Given the description of an element on the screen output the (x, y) to click on. 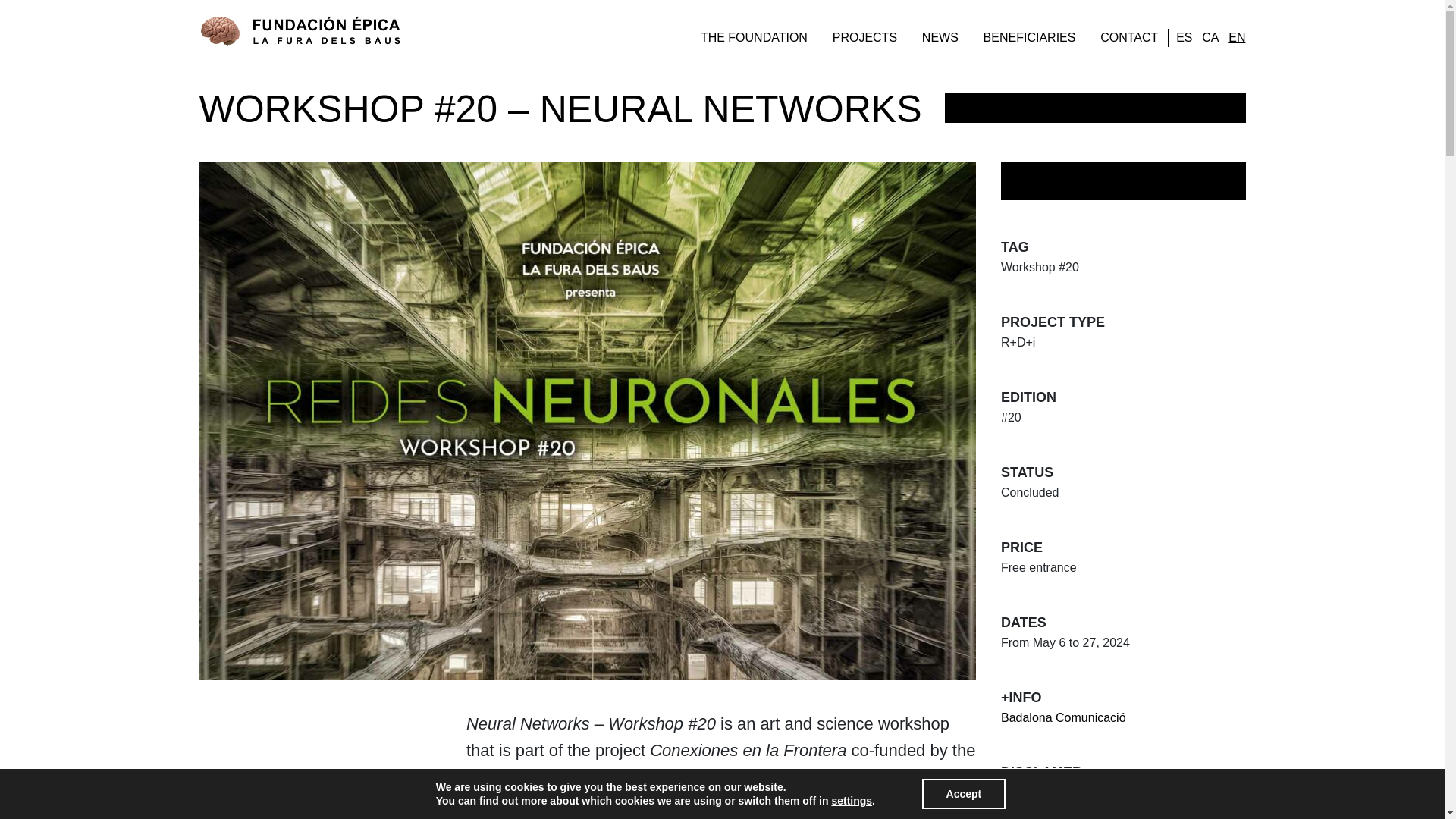
BENEFICIARIES (1029, 37)
CA (1210, 37)
CONTACT (1128, 37)
EN (1236, 37)
PROJECTS (864, 37)
NEWS (939, 37)
THE FOUNDATION (754, 37)
